Given the description of an element on the screen output the (x, y) to click on. 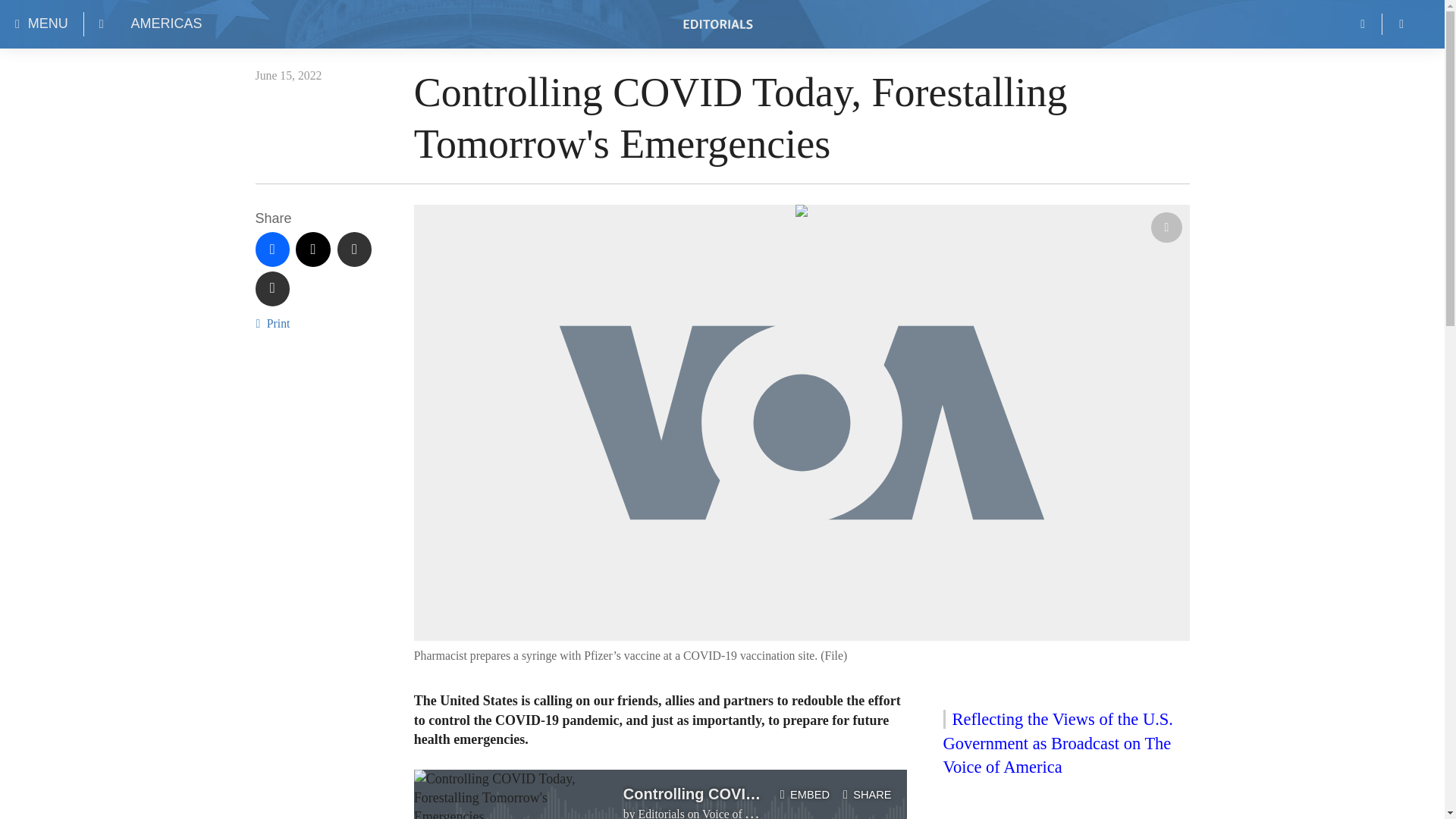
AMERICAS (166, 23)
